Given the description of an element on the screen output the (x, y) to click on. 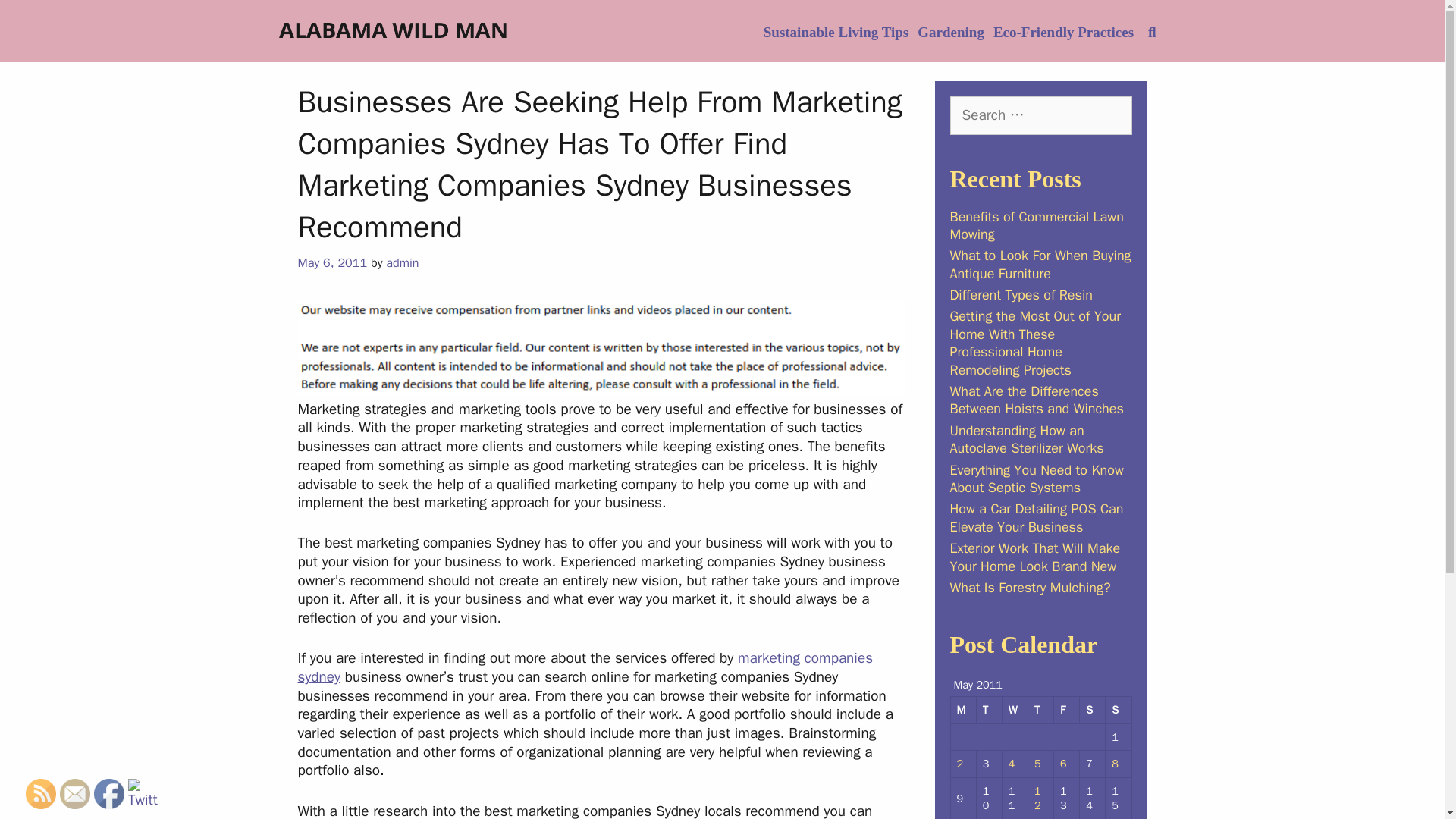
Exterior Work That Will Make Your Home Look Brand New (1034, 556)
What Is Forestry Mulching? (1029, 587)
marketing companies sydney (584, 667)
Understanding How an Autoclave Sterilizer Works (1026, 439)
What Are the Differences Between Hoists and Winches (1035, 399)
How a Car Detailing POS Can Elevate Your Business (1035, 517)
Alabama Wild Man (392, 30)
Alabama Wild Man (392, 29)
Gardening (950, 31)
Search (36, 18)
